Given the description of an element on the screen output the (x, y) to click on. 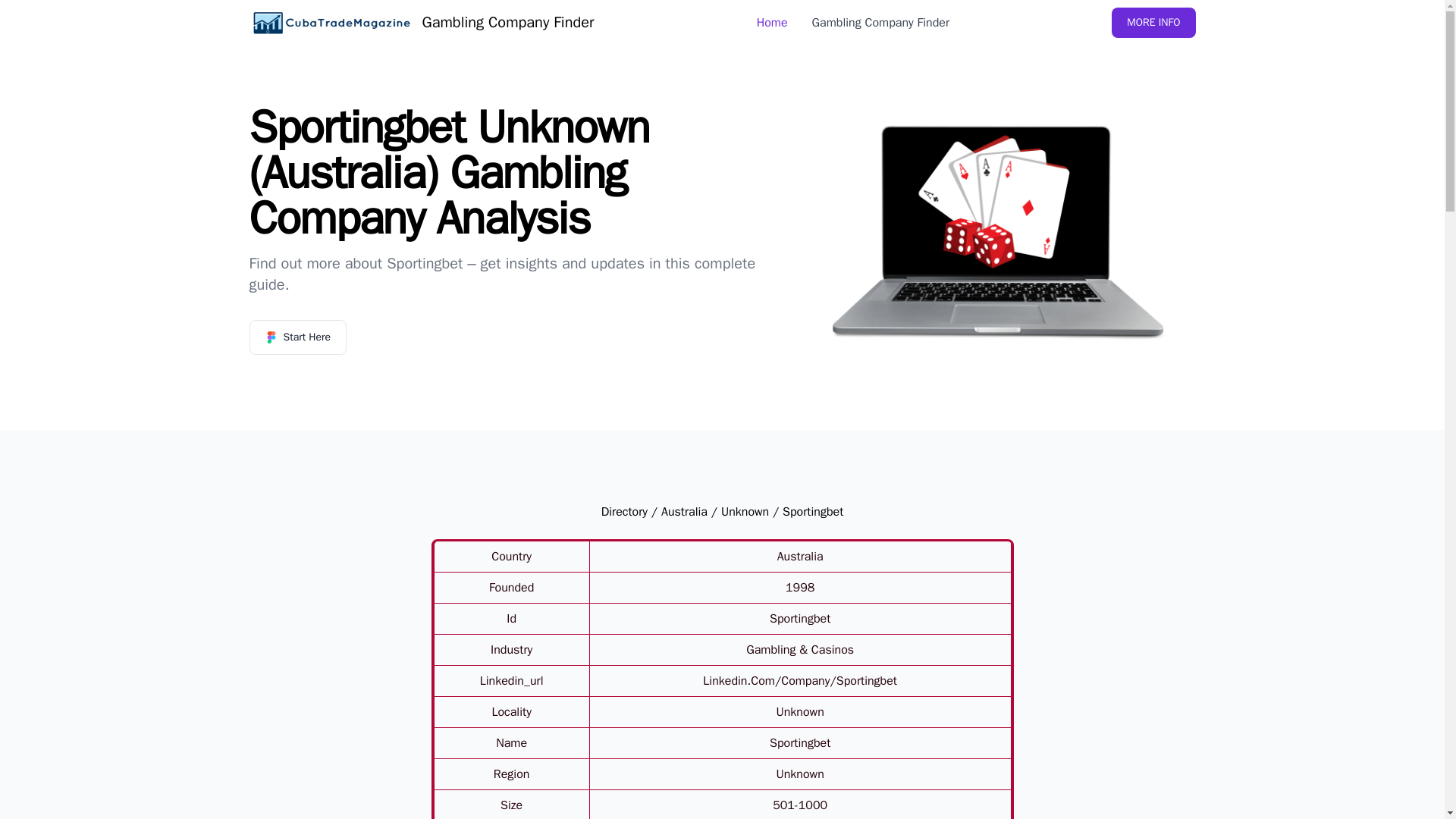
Directory (624, 511)
Gambling Company Finder (421, 22)
Unknown (744, 511)
MORE INFO (1153, 22)
Australia (684, 511)
Home (772, 22)
Gambling Company Finder (881, 22)
Start Here (297, 337)
